Given the description of an element on the screen output the (x, y) to click on. 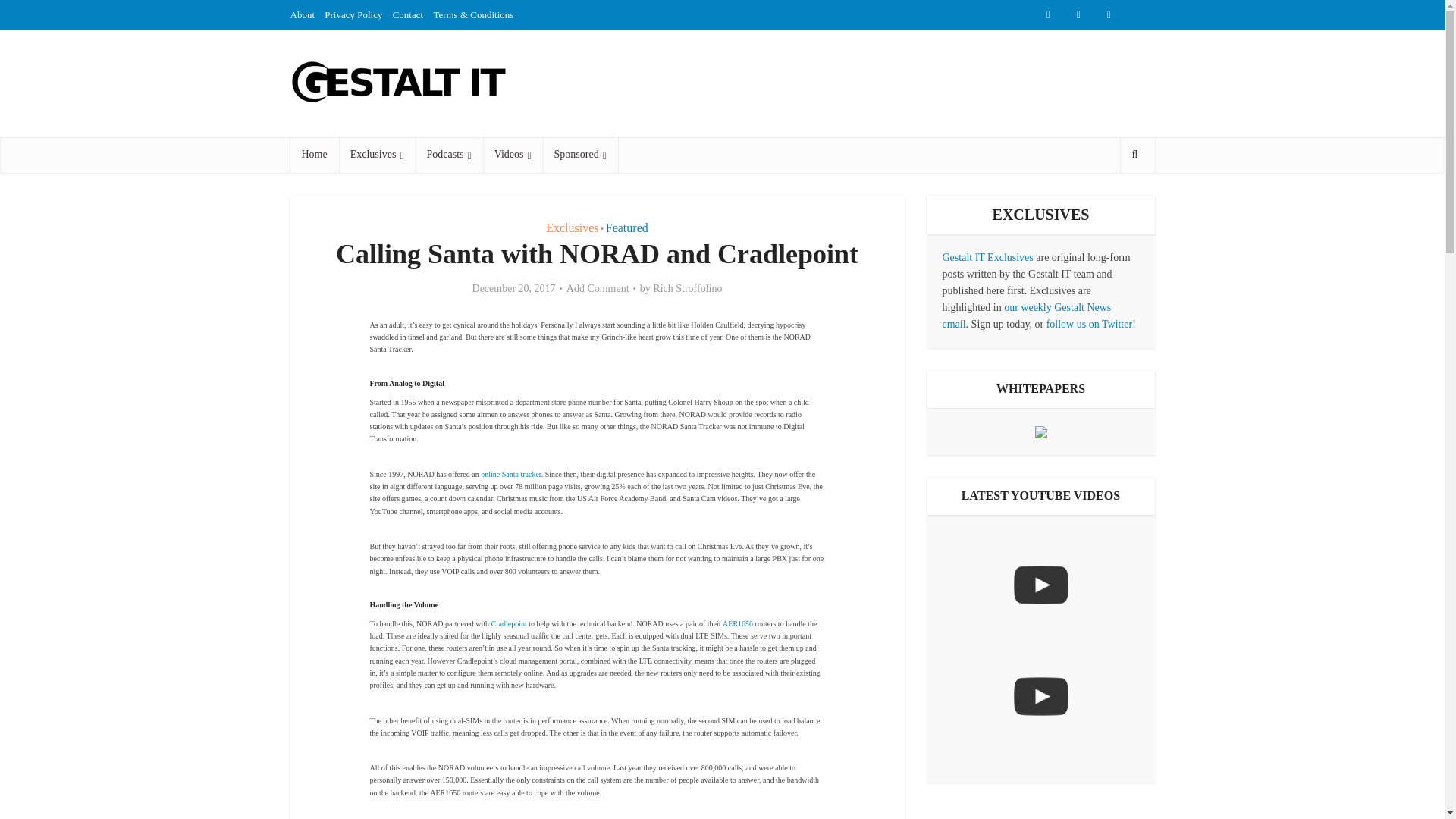
Podcasts (448, 154)
About (301, 14)
Sponsored (580, 154)
Exclusives (376, 154)
20. AI Has A Place In Networking Operations (1040, 695)
Videos (513, 154)
Home (313, 154)
Contact (408, 14)
Privacy Policy (352, 14)
